Given the description of an element on the screen output the (x, y) to click on. 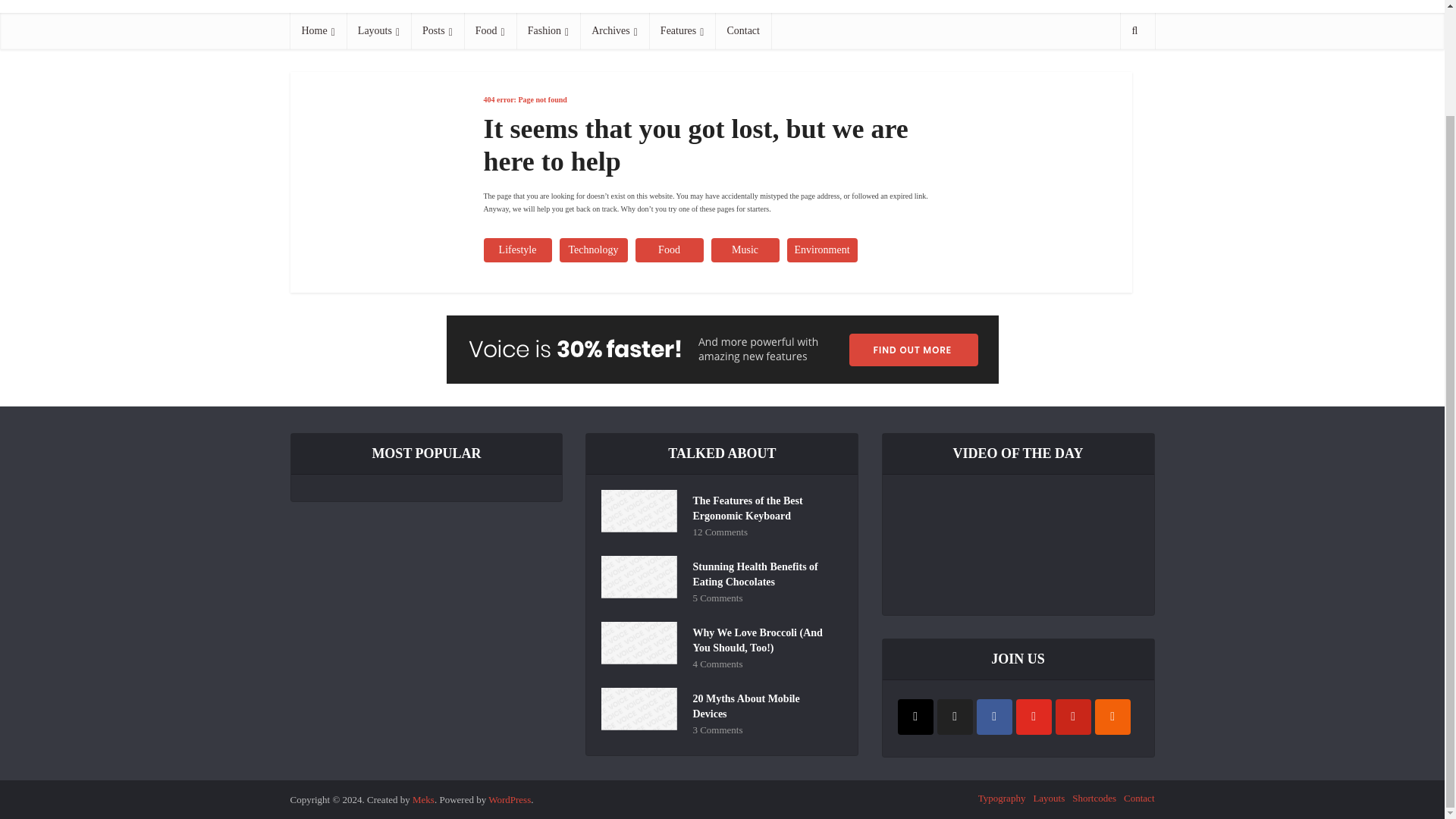
Layouts (378, 31)
20 Myths About Mobile Devices (764, 704)
Instagram (915, 716)
Pinterest (1072, 716)
Facebook (993, 716)
Stunning Health Benefits of Eating Chocolates (764, 572)
Home (317, 31)
The Features of the Best Ergonomic Keyboard (764, 506)
RSS (1112, 716)
Posts (437, 31)
YouTube (1033, 716)
